Given the description of an element on the screen output the (x, y) to click on. 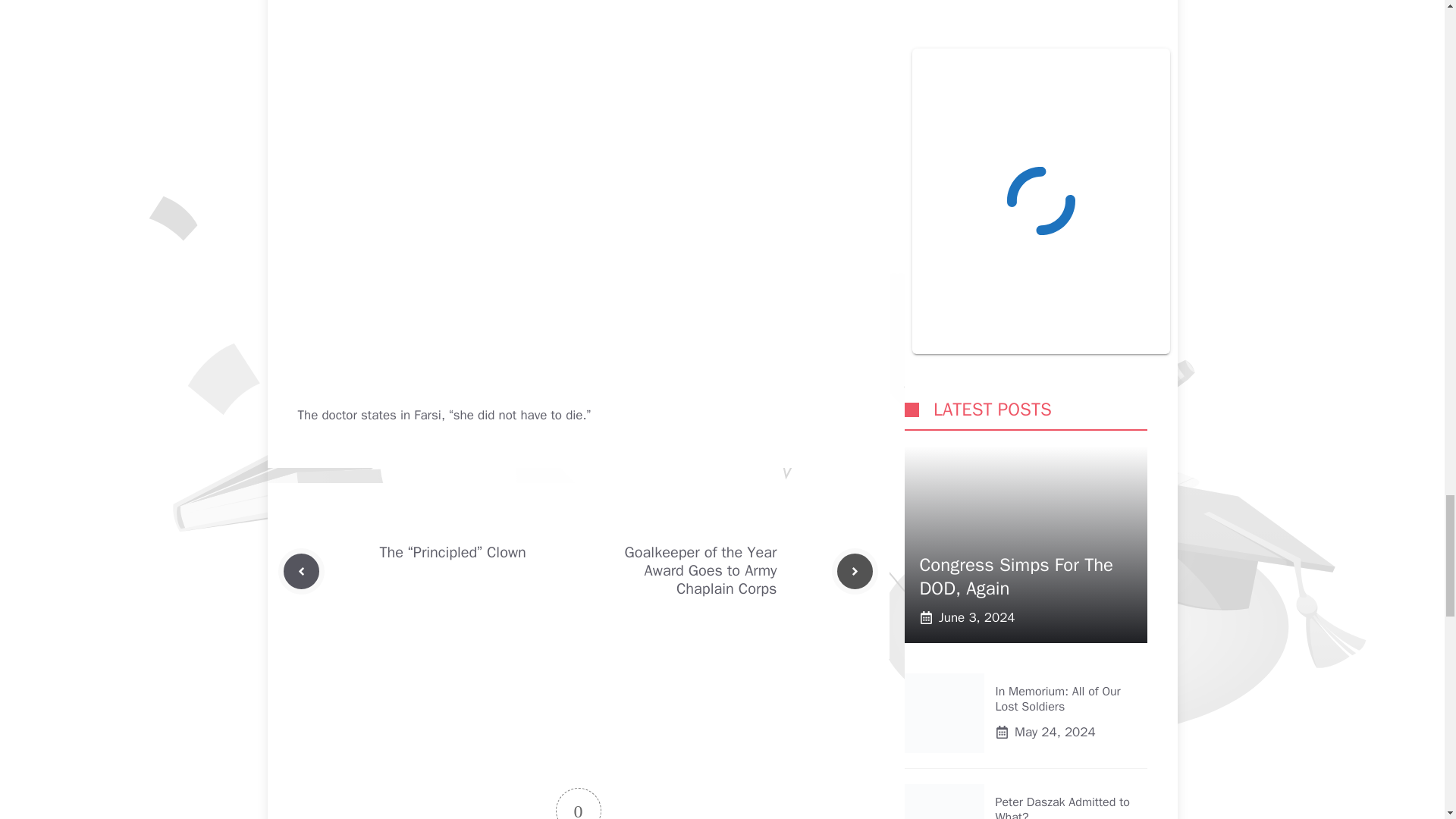
Goalkeeper of the Year Award Goes to Army Chaplain Corps (700, 570)
